Given the description of an element on the screen output the (x, y) to click on. 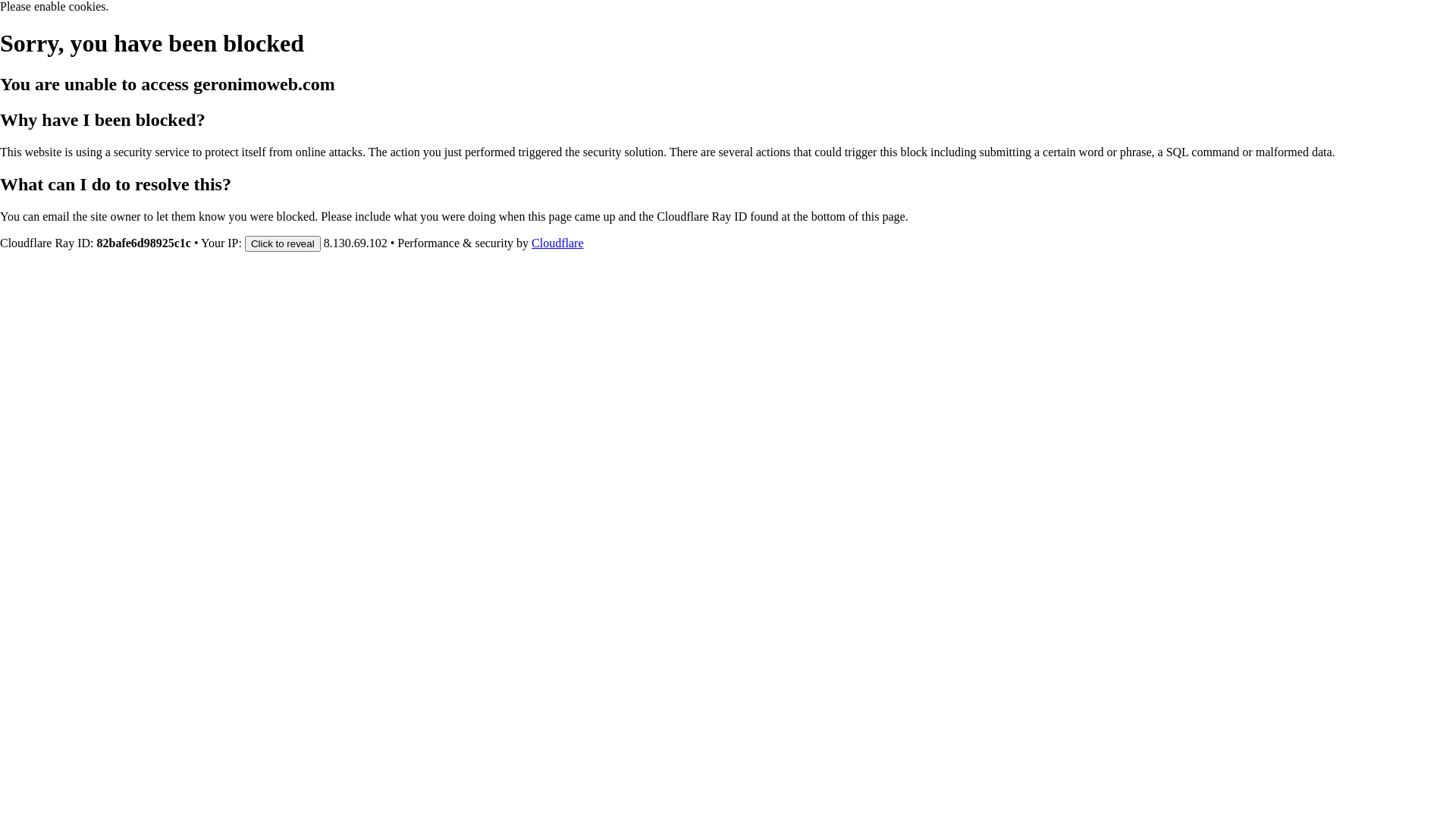
Click to reveal Element type: text (282, 243)
Cloudflare Element type: text (557, 242)
